Given the description of an element on the screen output the (x, y) to click on. 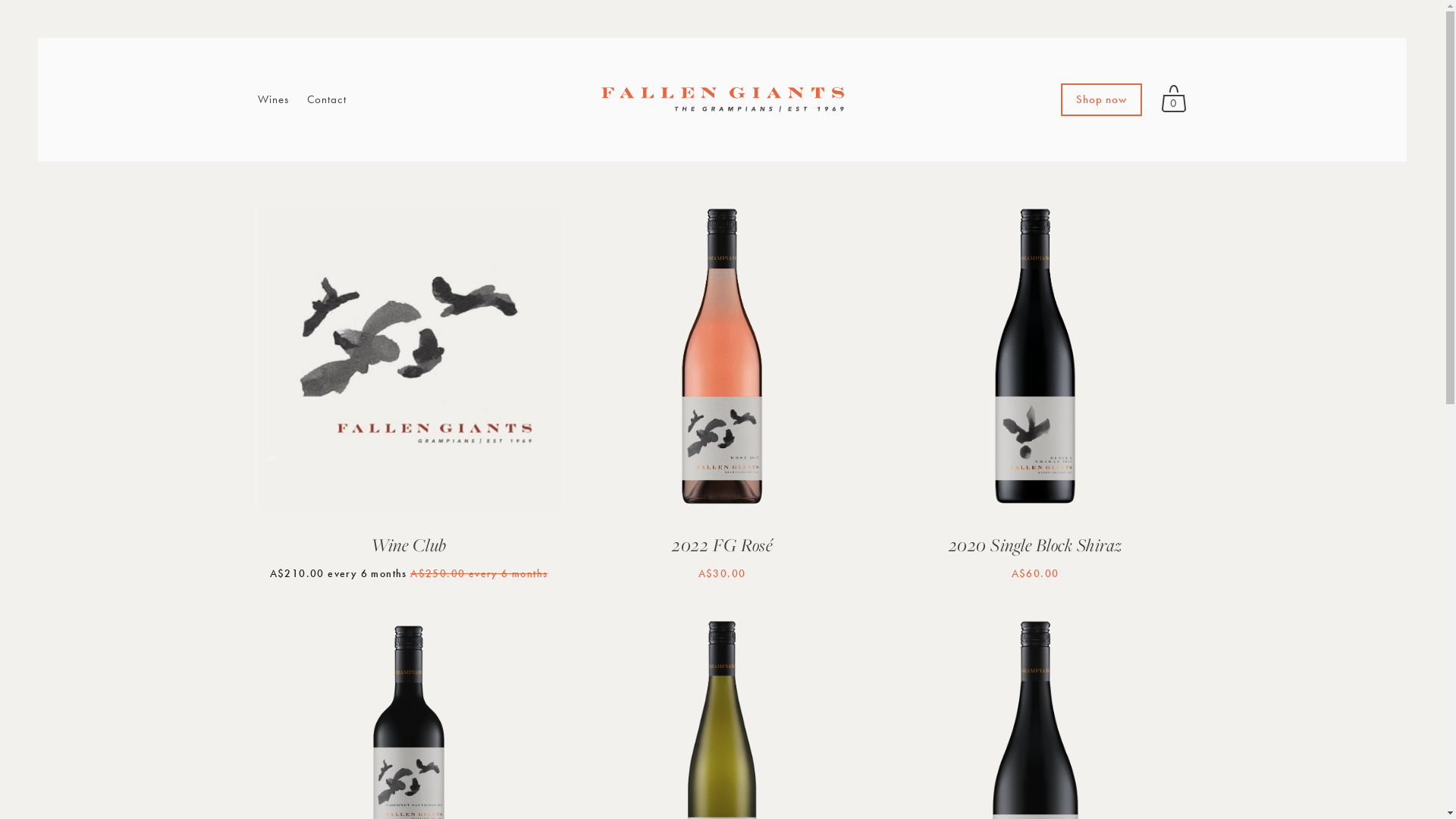
Contact Element type: text (325, 99)
Wines Element type: text (272, 99)
0 Element type: text (1173, 99)
Shop now Element type: text (1101, 99)
